Given the description of an element on the screen output the (x, y) to click on. 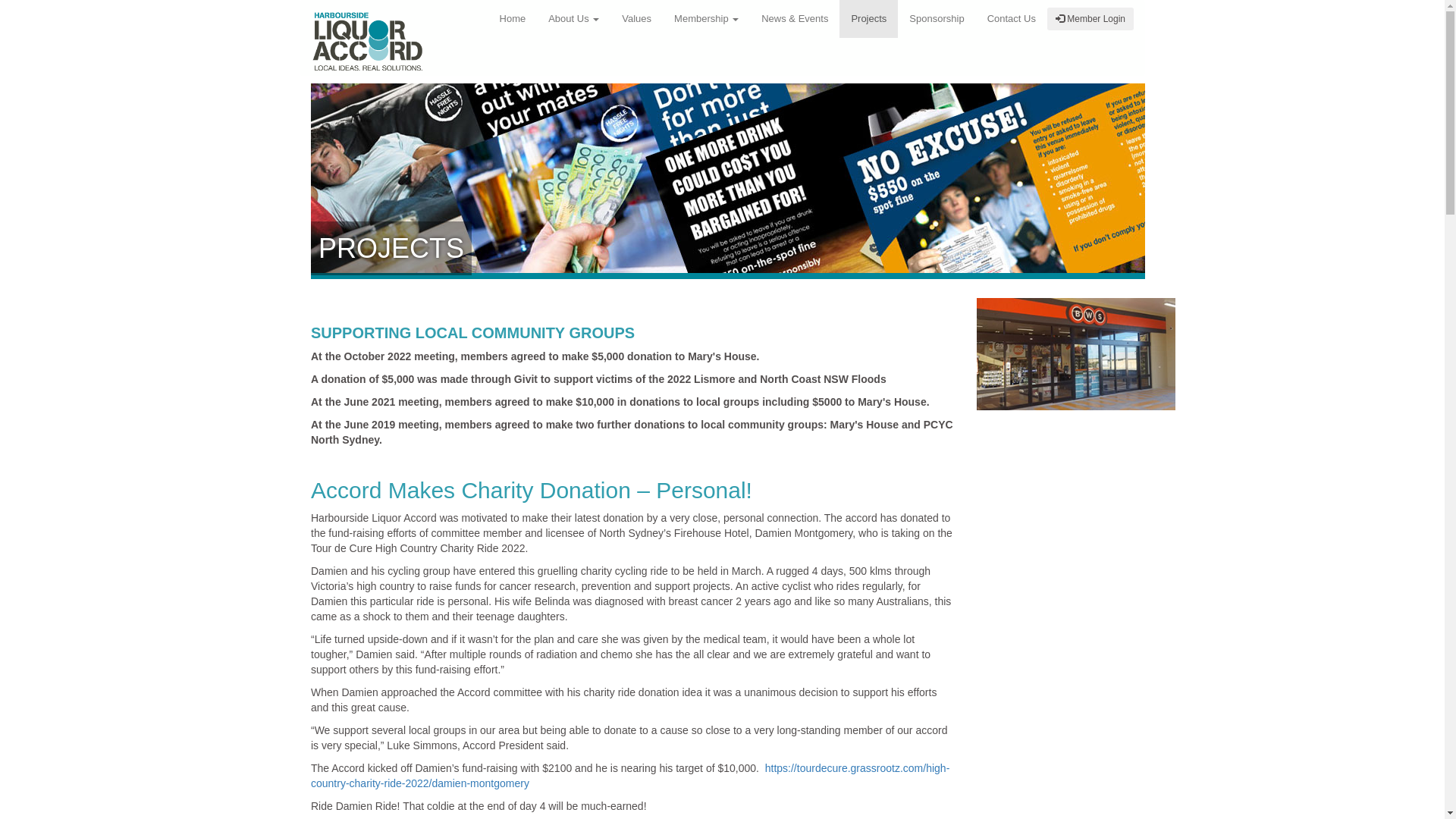
Contact Us Element type: text (1011, 18)
About Us Element type: text (573, 18)
Projects Element type: text (868, 18)
Member Login Element type: text (1090, 18)
Sponsorship Element type: text (936, 18)
News & Events Element type: text (794, 18)
Home Element type: text (512, 18)
Values Element type: text (636, 18)
Membership Element type: text (705, 18)
